Given the description of an element on the screen output the (x, y) to click on. 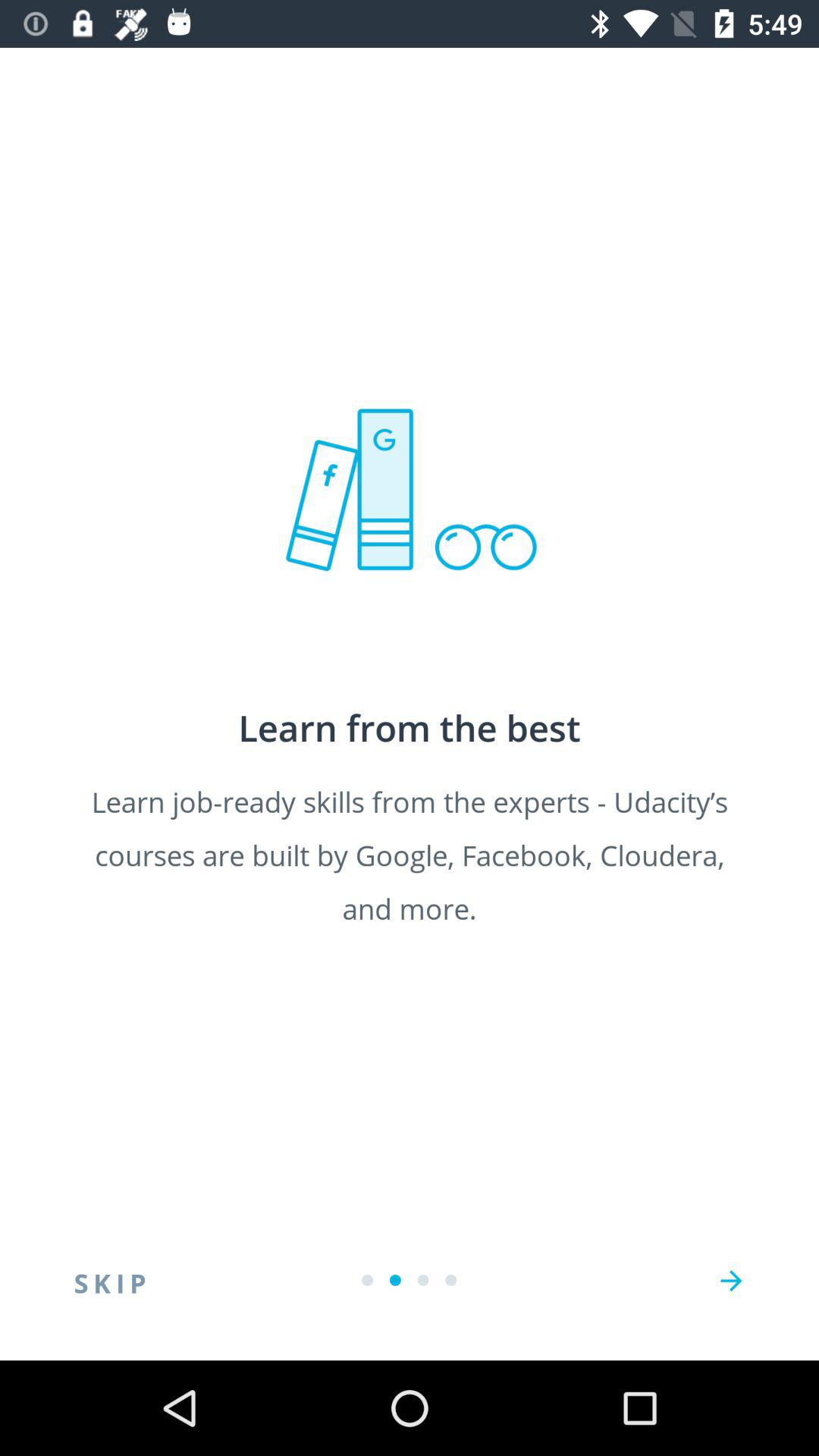
go to next (731, 1280)
